Given the description of an element on the screen output the (x, y) to click on. 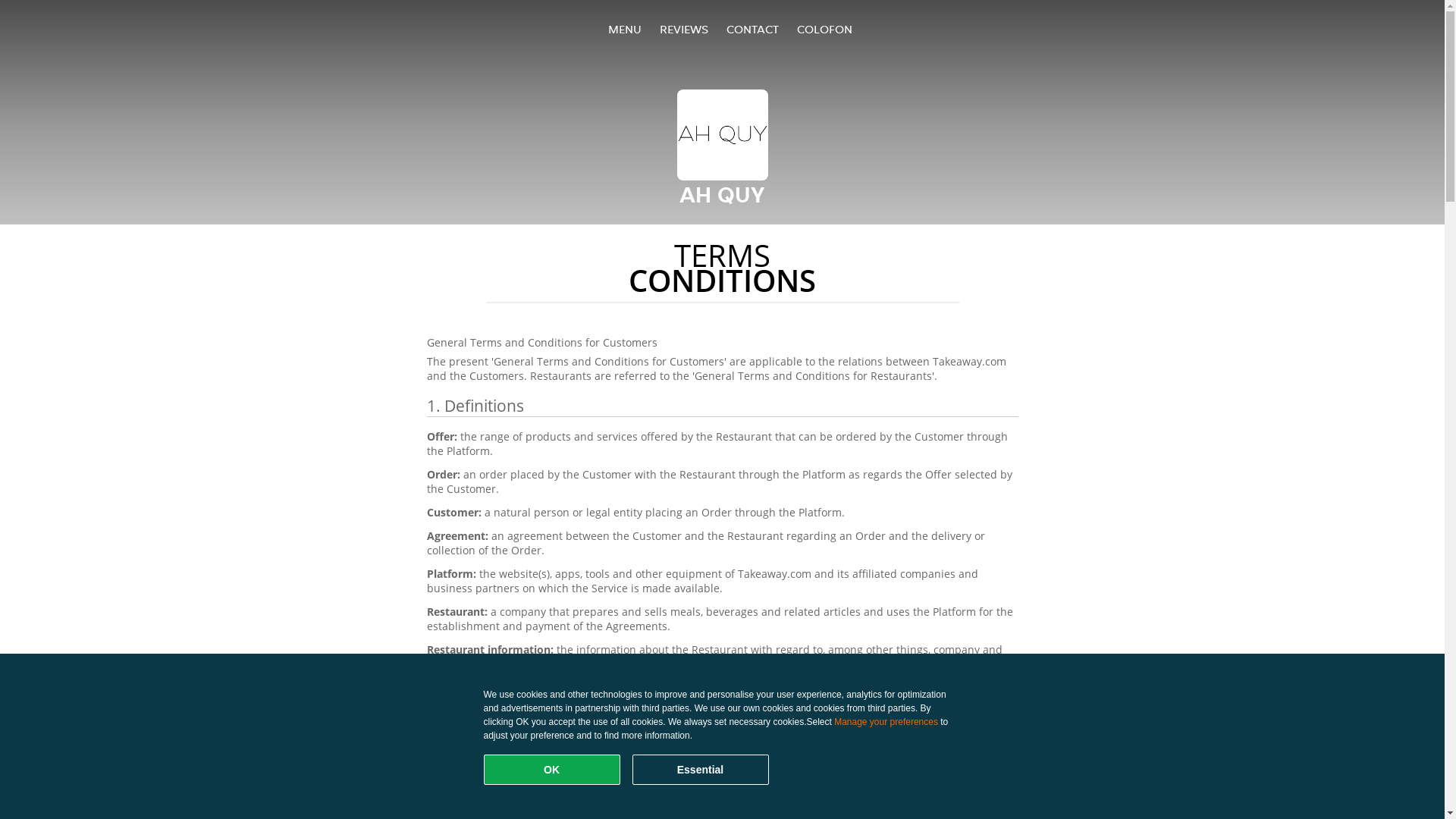
REVIEWS Element type: text (683, 29)
MENU Element type: text (624, 29)
COLOFON Element type: text (823, 29)
OK Element type: text (551, 769)
Essential Element type: text (700, 769)
Manage your preferences Element type: text (886, 721)
CONTACT Element type: text (752, 29)
